Given the description of an element on the screen output the (x, y) to click on. 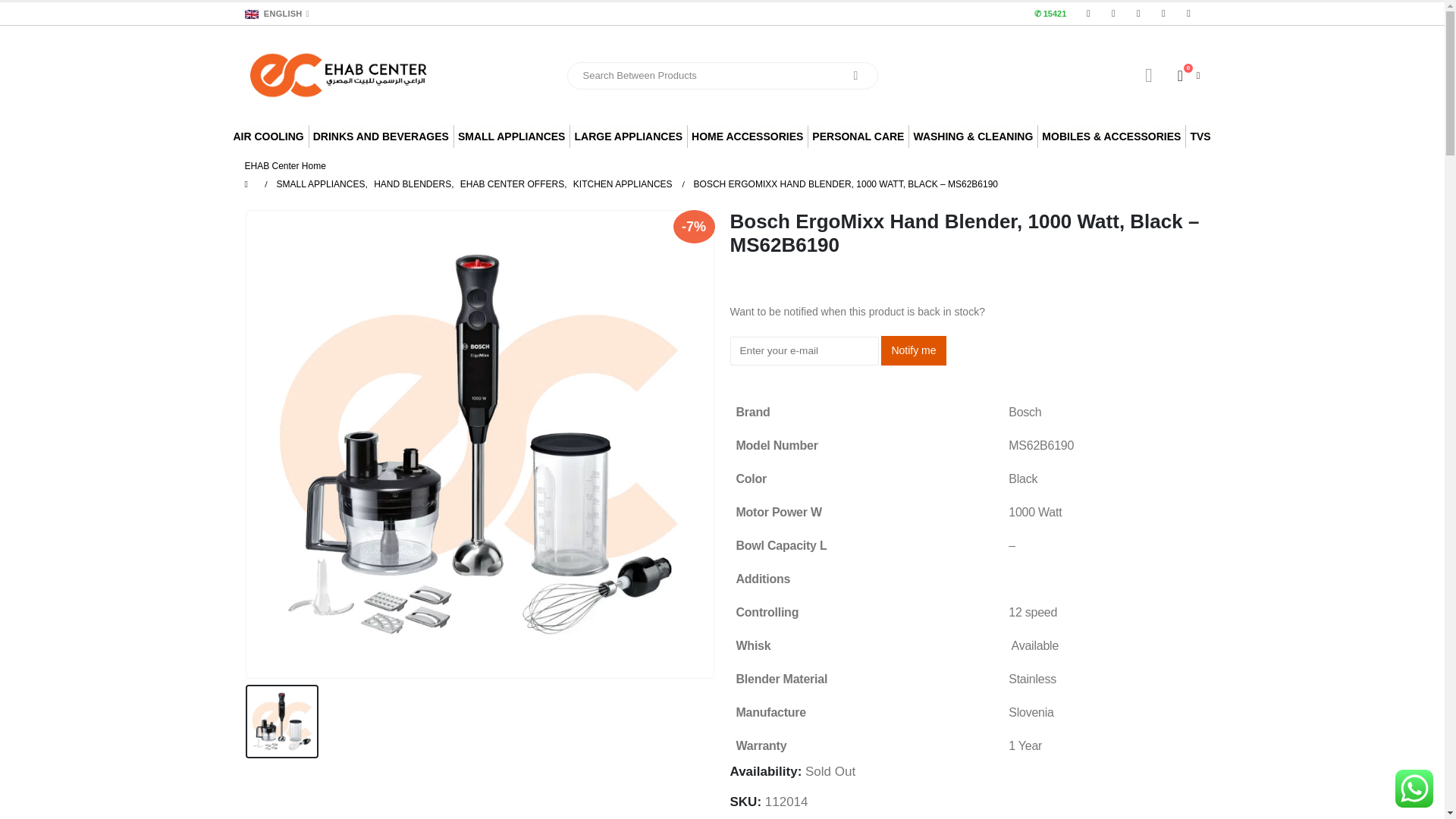
Youtube (1113, 13)
Instagram (1137, 13)
ENGLISH (278, 13)
Facebook (1088, 13)
LinkedIn (1163, 13)
AIR COOLING (267, 136)
Tiktok (1188, 13)
EHAB Center Home Appliances - Home Appliances Shop (338, 74)
DRINKS AND BEVERAGES (380, 136)
